Given the description of an element on the screen output the (x, y) to click on. 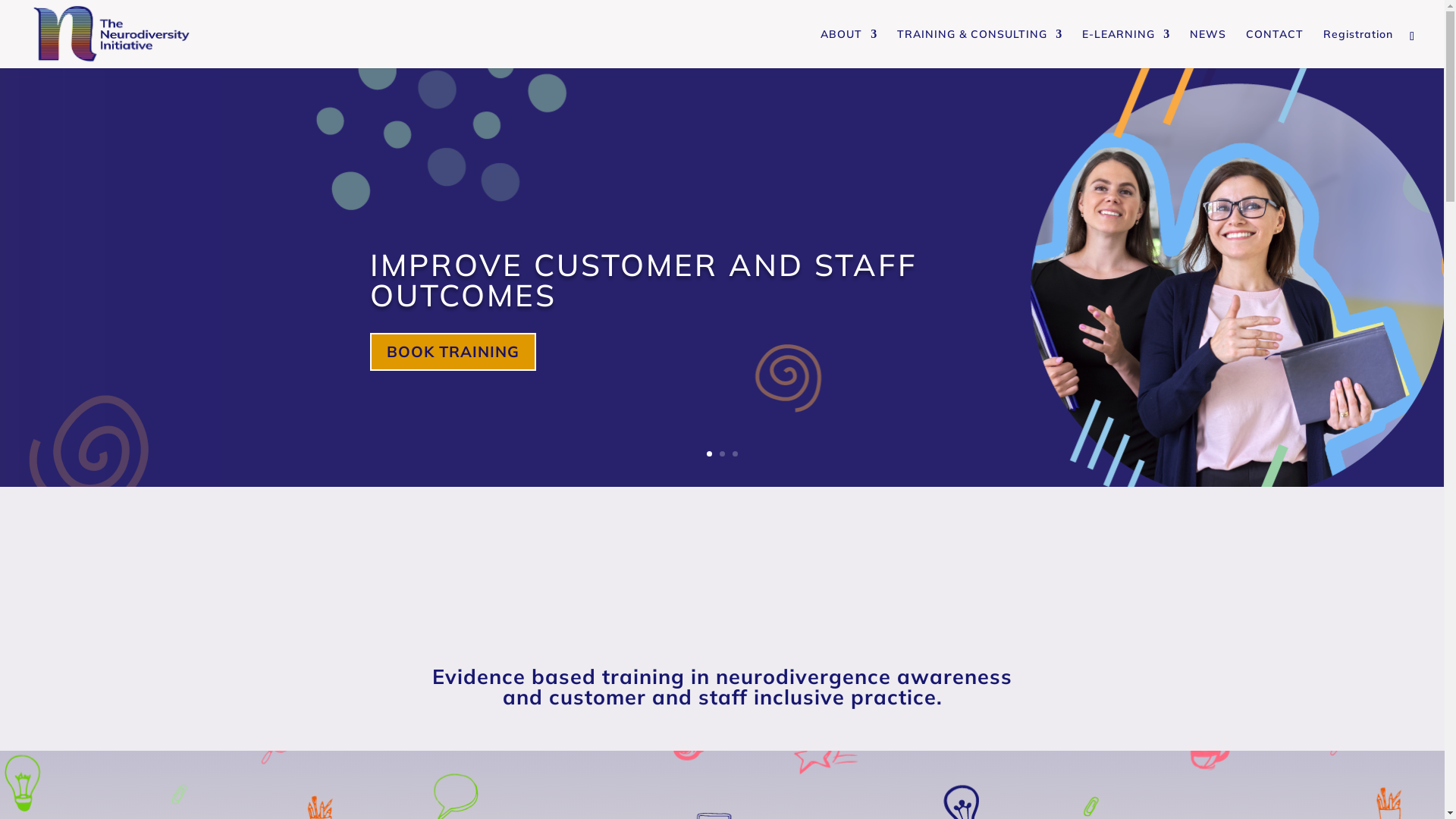
TRAINING & CONSULTING Element type: text (979, 48)
NEWS Element type: text (1207, 48)
3 Element type: text (734, 453)
ABOUT Element type: text (848, 48)
IMPROVE CUSTOMER AND STAFF OUTCOMES Element type: text (643, 279)
CONTACT Element type: text (1274, 48)
Registration Element type: text (1358, 48)
BOOK TRAINING Element type: text (453, 351)
E-LEARNING Element type: text (1126, 48)
2 Element type: text (721, 453)
1 Element type: text (709, 453)
